Given the description of an element on the screen output the (x, y) to click on. 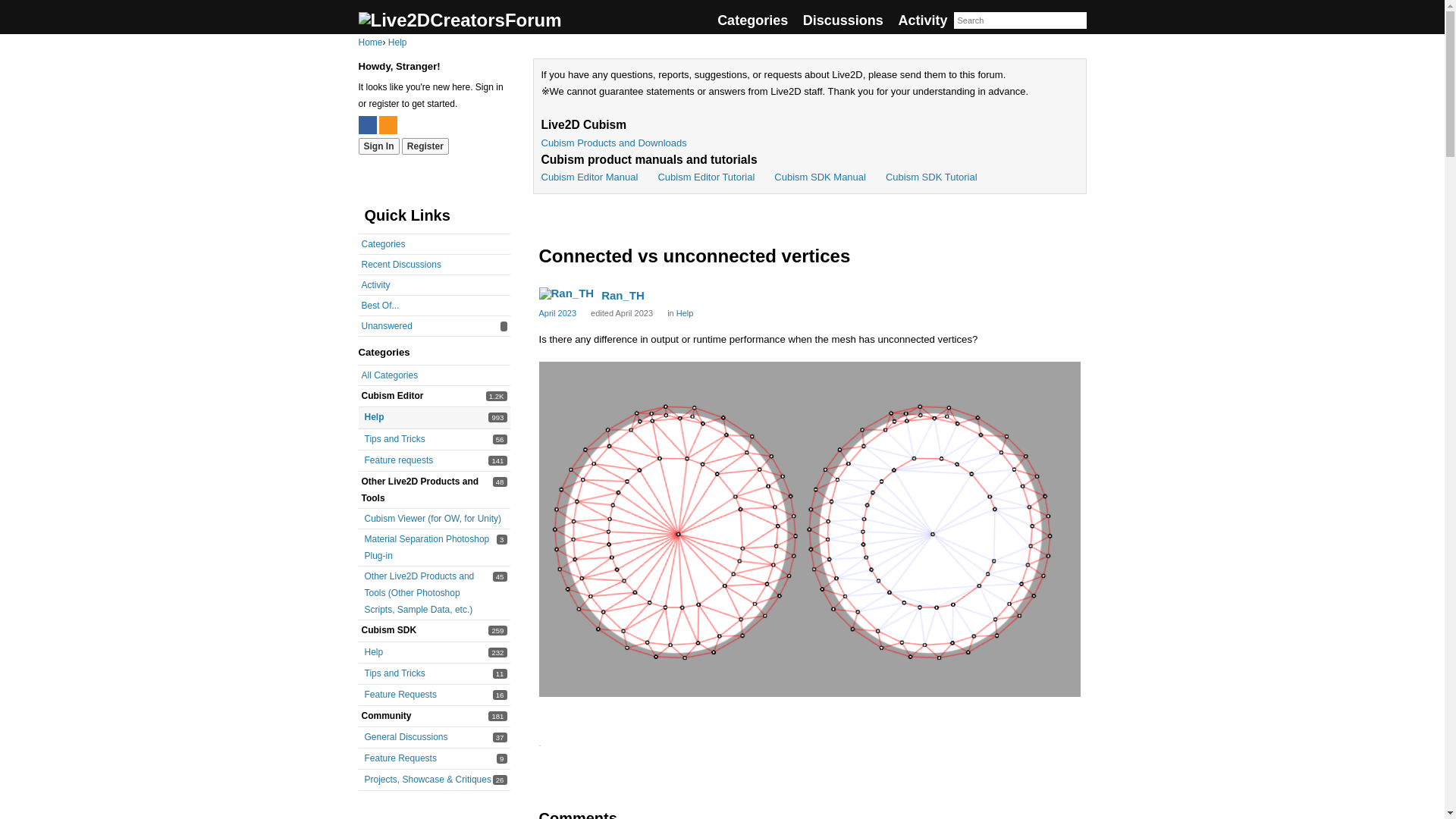
Best Of... (379, 305)
Go (1076, 21)
Discussions (842, 20)
Sign In with OpenID (387, 125)
993 discussions (497, 417)
Enter your search term. (1019, 20)
Categories (752, 20)
Unanswered (405, 737)
37 discussions (386, 326)
